Given the description of an element on the screen output the (x, y) to click on. 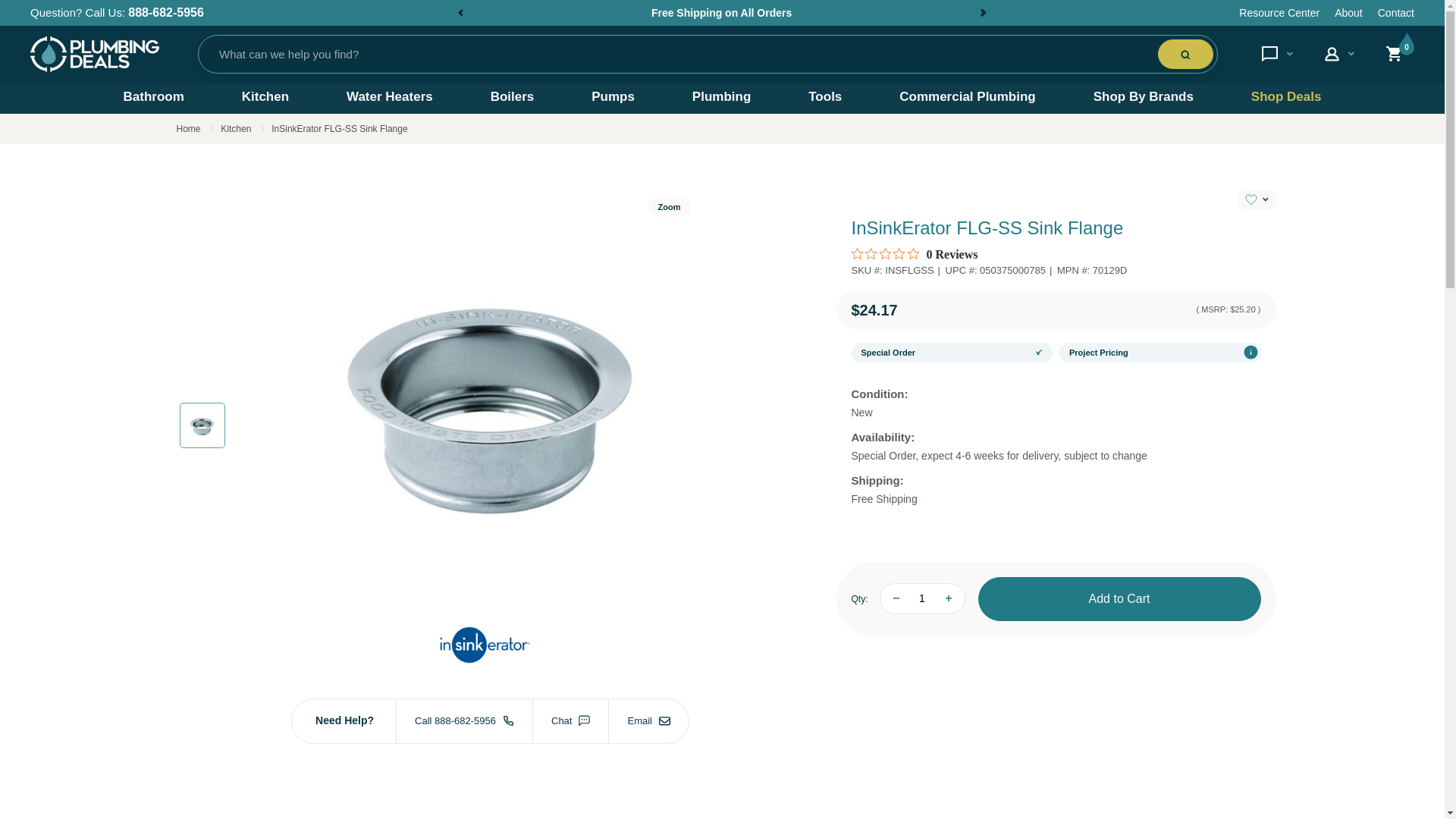
About (1348, 12)
888-682-5956 (165, 11)
Contact (1395, 12)
Resource Center (1279, 12)
InSinkErator FLG-SS Sink Flange (201, 425)
Bathroom (152, 97)
Plumbing Deals (94, 54)
0 (1399, 53)
1 (921, 598)
0 Reviews (913, 254)
